Given the description of an element on the screen output the (x, y) to click on. 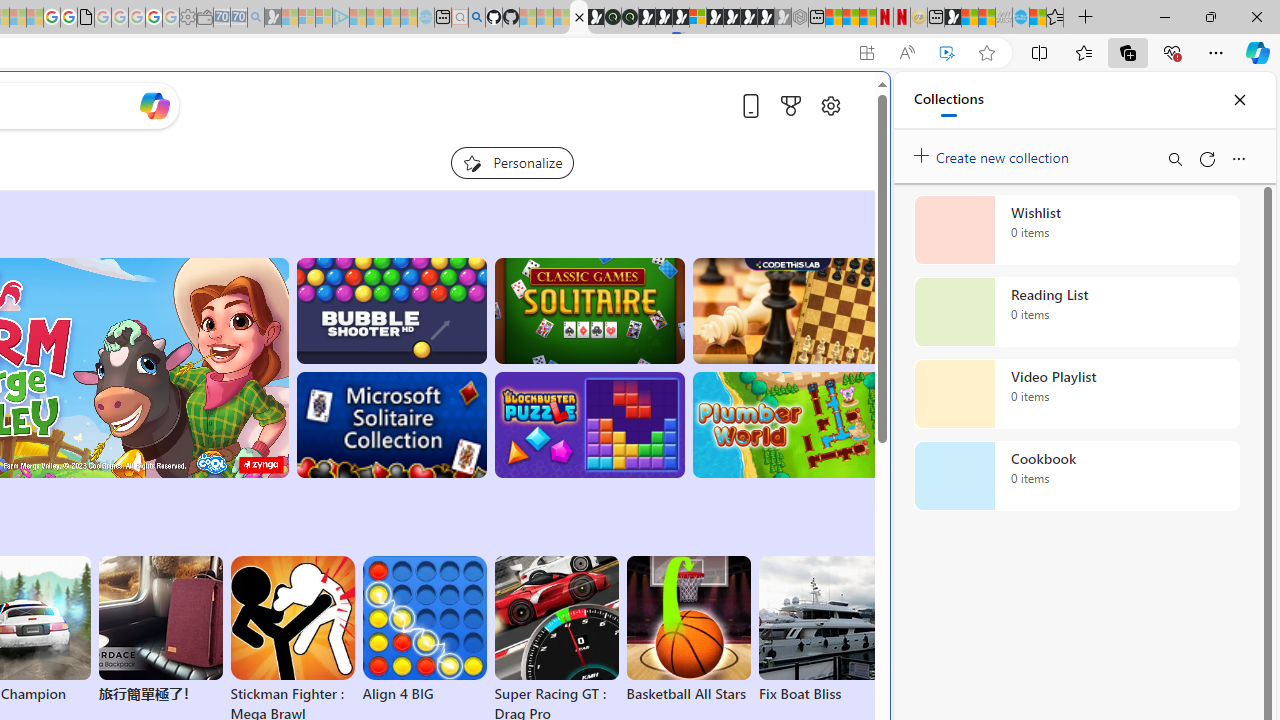
Personalize your feed" (511, 162)
Plumber World (787, 425)
